Given the description of an element on the screen output the (x, y) to click on. 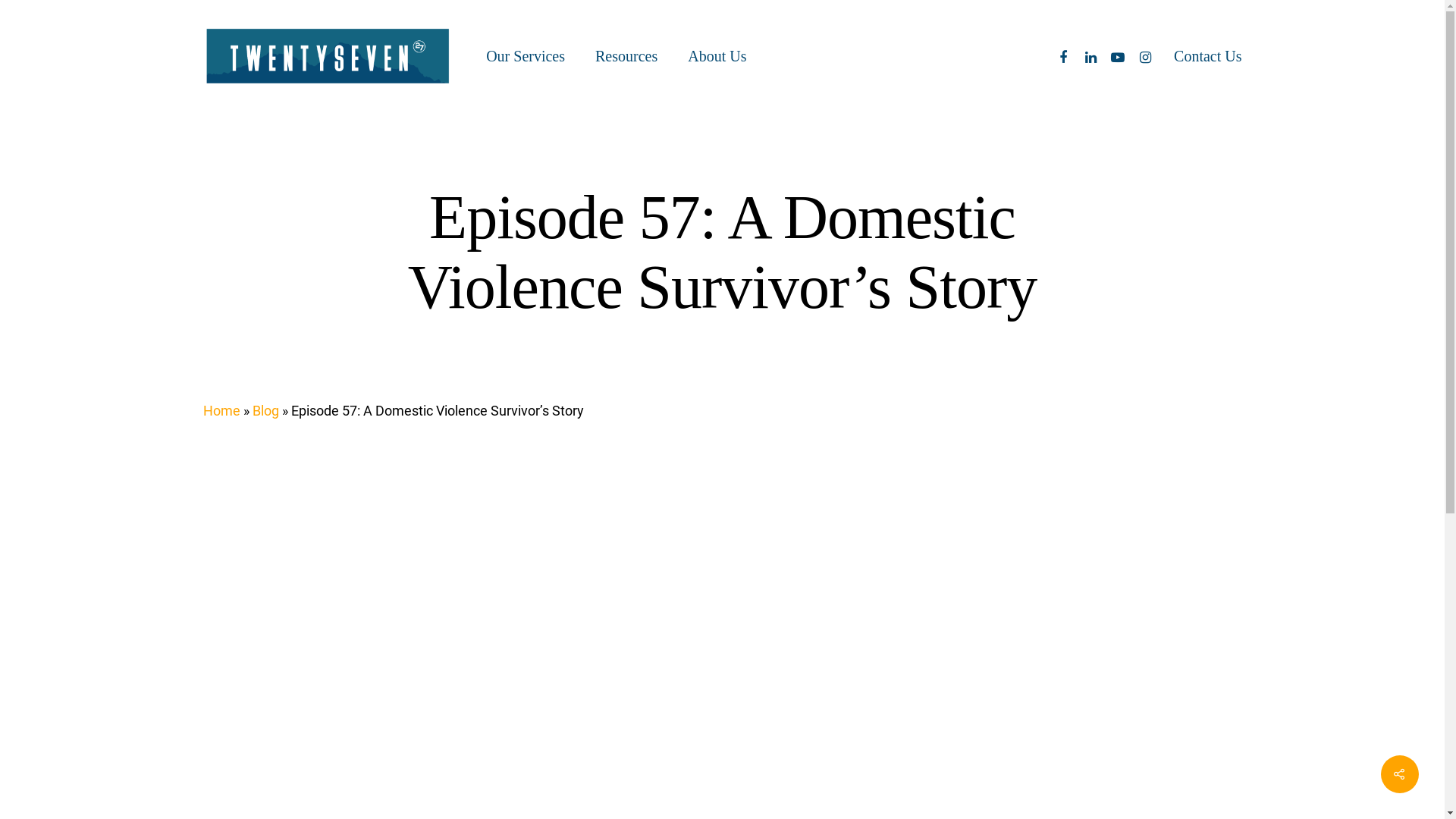
Blog Element type: text (264, 410)
Contact Us Element type: text (1207, 55)
About Us Element type: text (716, 55)
Resources Element type: text (626, 55)
Our Services Element type: text (525, 55)
Home Element type: text (221, 410)
